Given the description of an element on the screen output the (x, y) to click on. 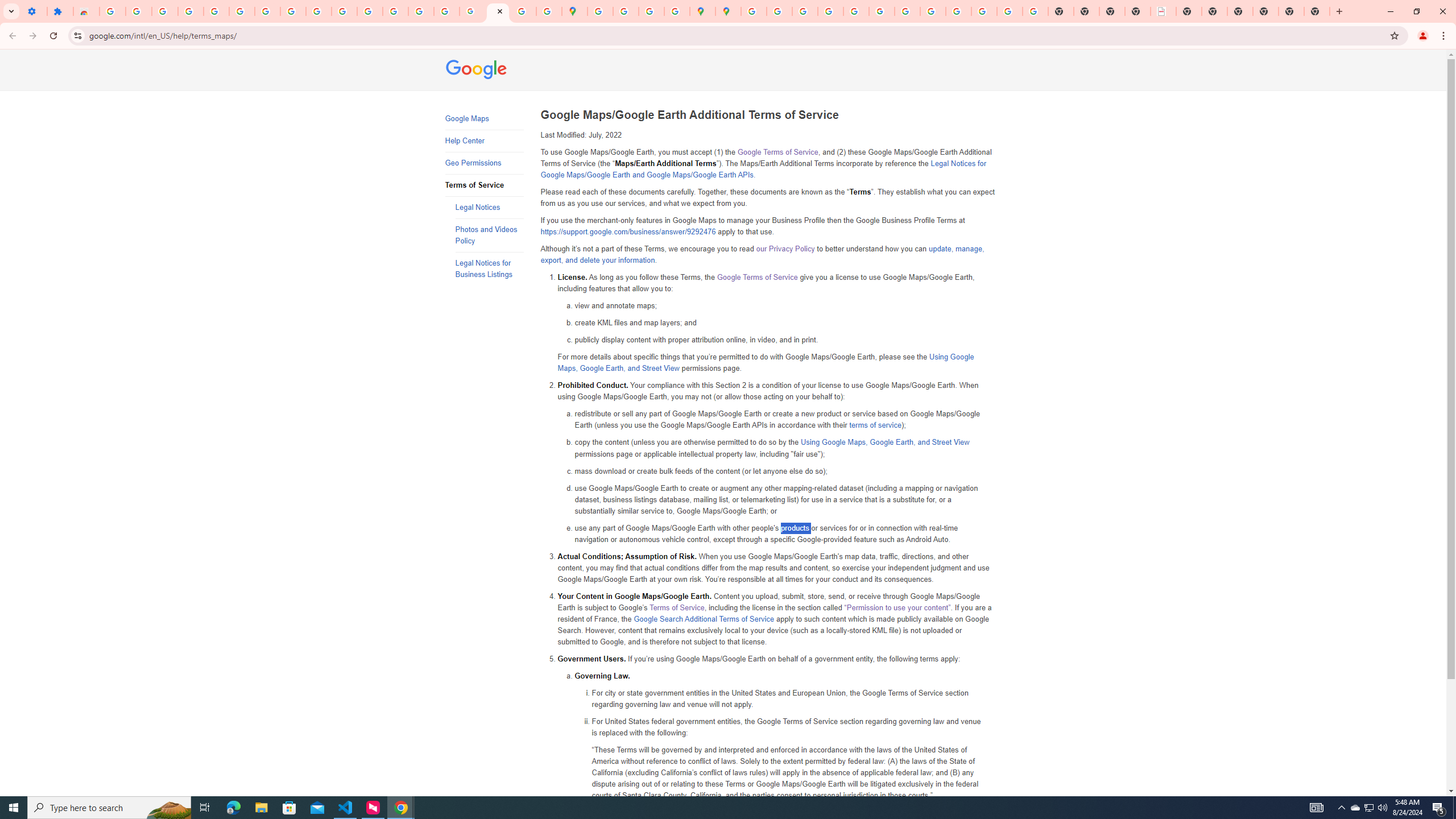
https://scholar.google.com/ (369, 11)
Privacy Help Center - Policies Help (804, 11)
